Given the description of an element on the screen output the (x, y) to click on. 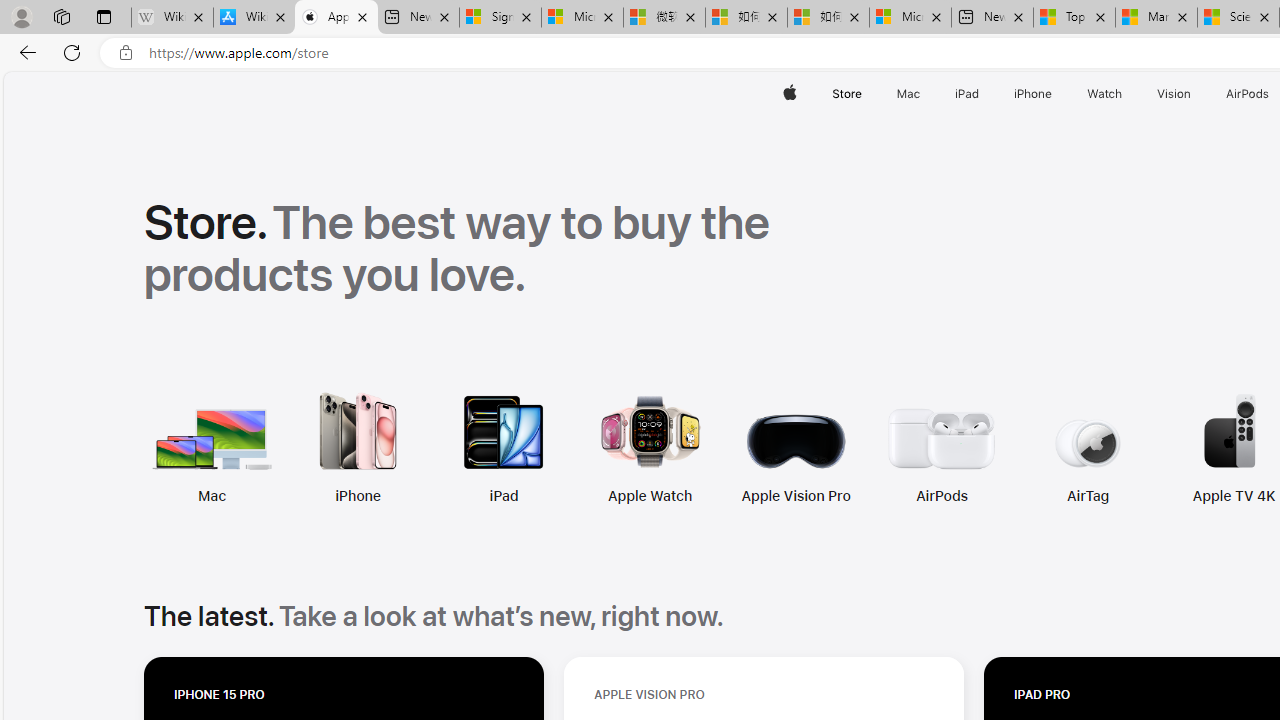
Vision menu (1195, 93)
Apple (789, 93)
